Given the description of an element on the screen output the (x, y) to click on. 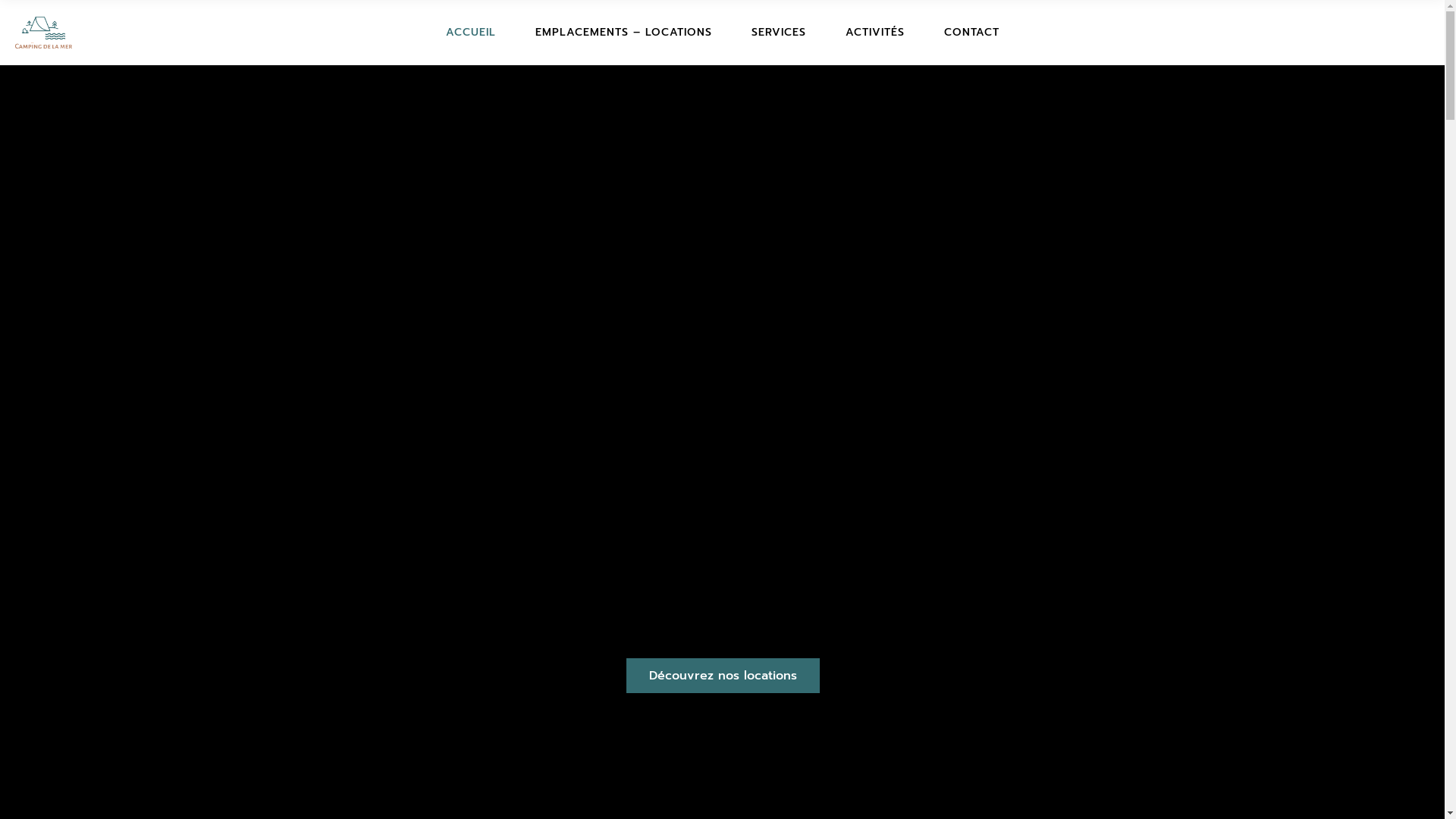
SERVICES Element type: text (777, 32)
CONTACT Element type: text (970, 32)
ACCUEIL Element type: text (470, 32)
